Given the description of an element on the screen output the (x, y) to click on. 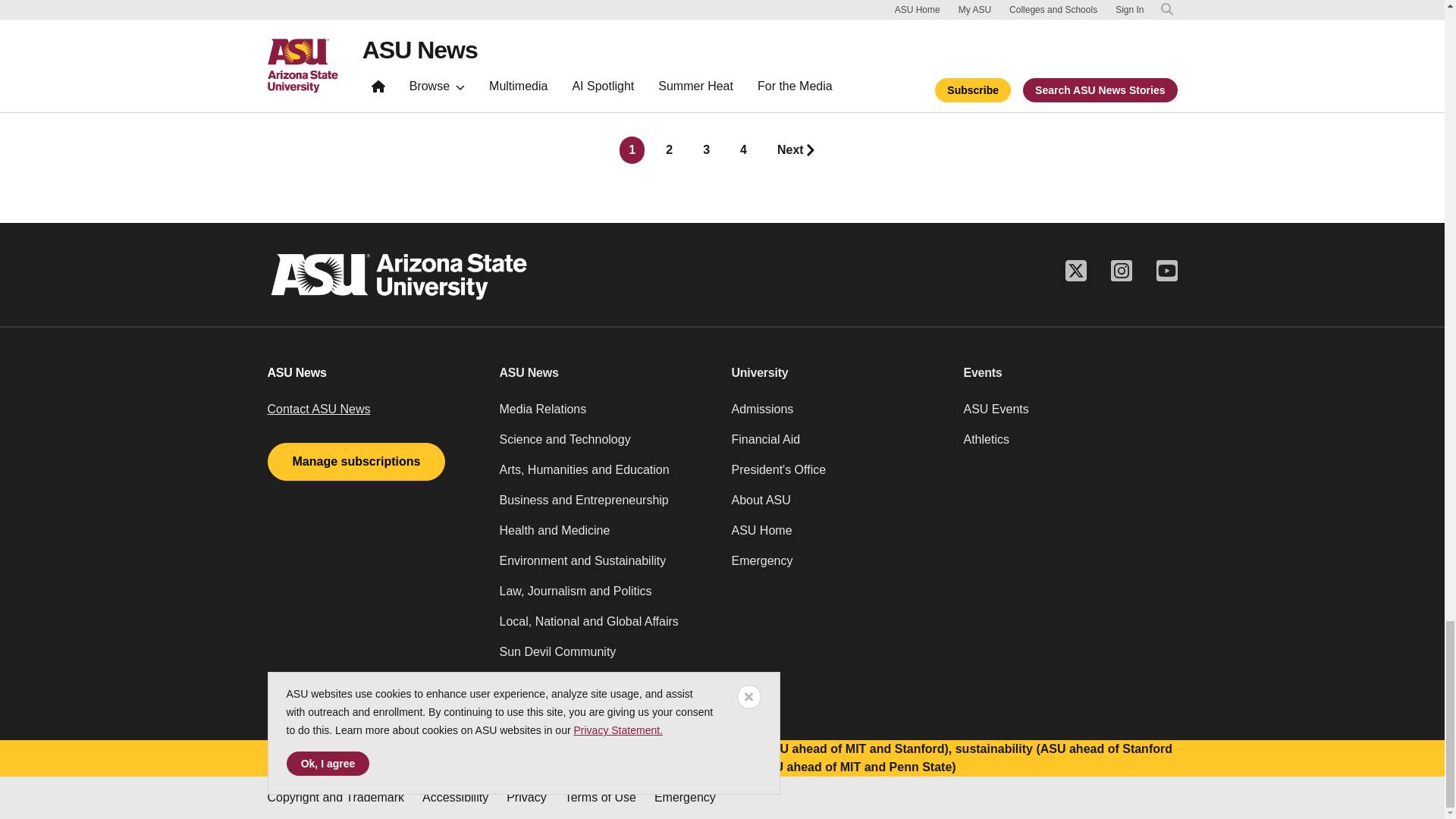
Go to page 2 (668, 149)
YouTube Social Media Icon (1166, 270)
Go to page 3 (706, 149)
Go to last page (796, 149)
Current page (632, 149)
Instagram Social Media Icon (1120, 270)
Go to page 4 (742, 149)
